Given the description of an element on the screen output the (x, y) to click on. 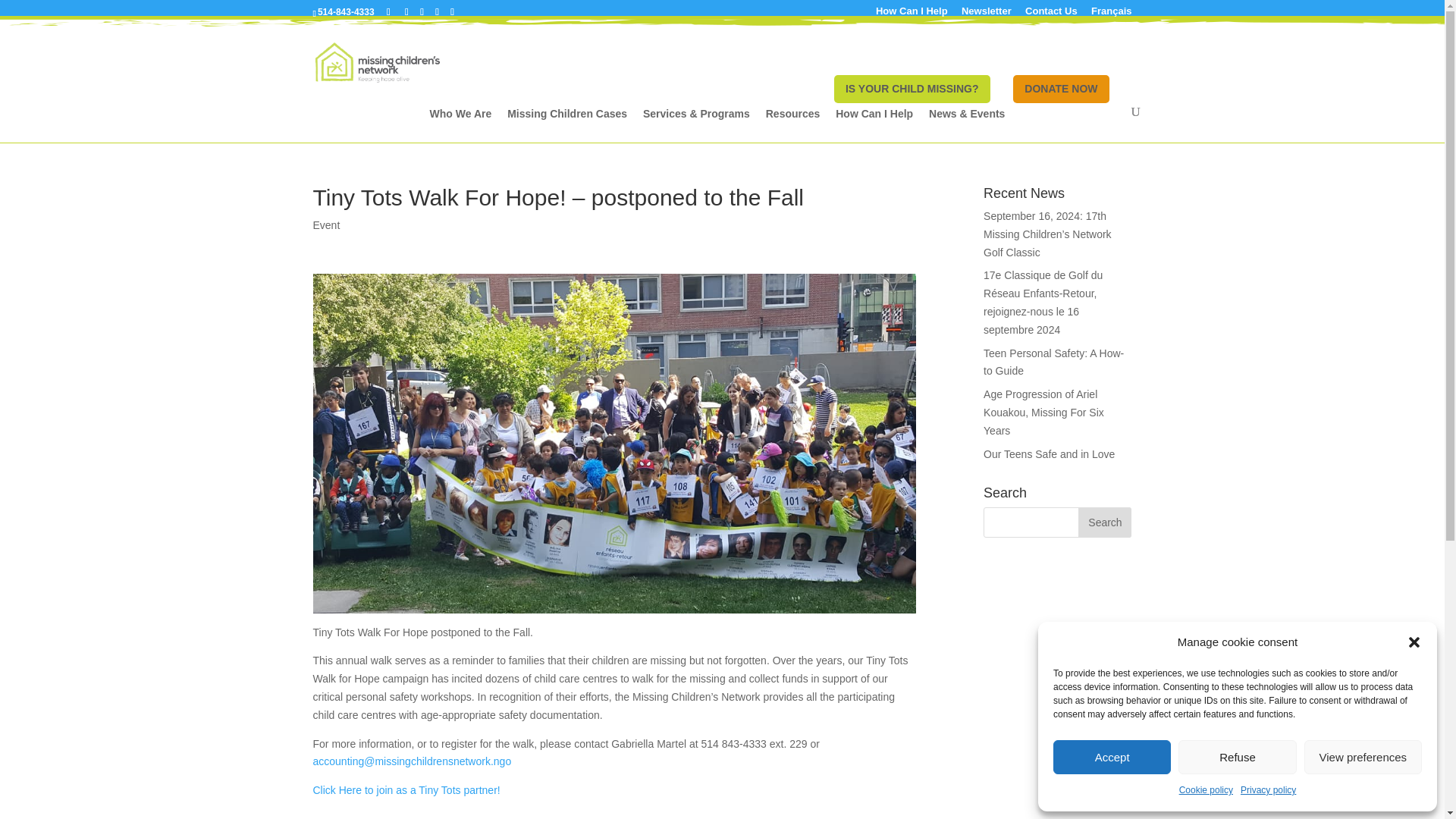
Privacy policy (1267, 791)
Newsletter (985, 14)
IS YOUR CHILD MISSING? (912, 89)
View preferences (1363, 756)
Accept (1111, 756)
Who We Are (465, 124)
Missing Children Cases (571, 124)
Refuse (1236, 756)
Search (1104, 521)
DONATE NOW (1060, 89)
Cookie policy (1206, 791)
How Can I Help (911, 14)
Contact Us (1051, 14)
